Given the description of an element on the screen output the (x, y) to click on. 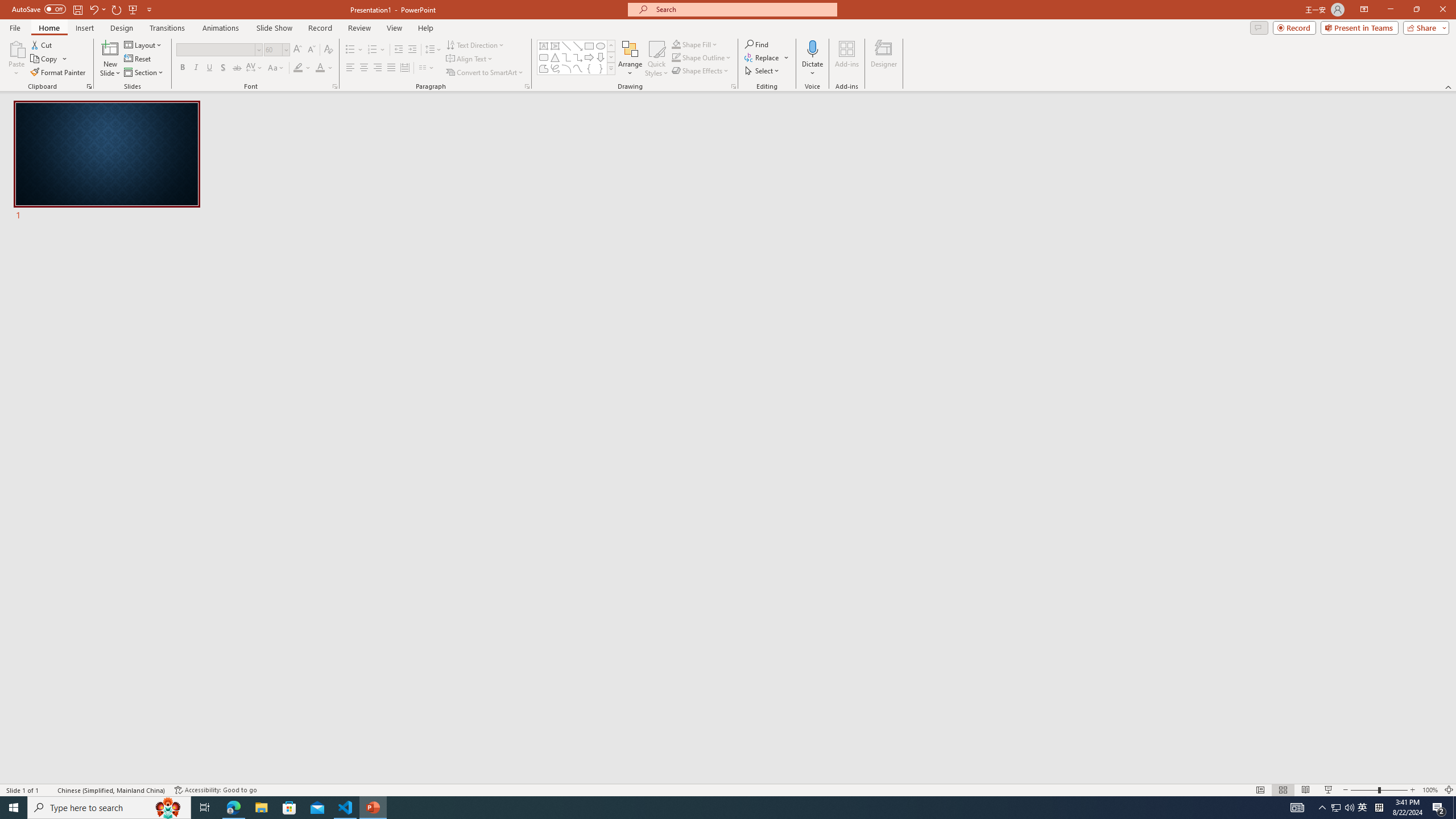
Shape Outline Blue, Accent 1 (675, 56)
Change Case (276, 67)
Font... (334, 85)
Center (363, 67)
Reset (138, 58)
Font Color Red (320, 67)
Format Painter (58, 72)
